Given the description of an element on the screen output the (x, y) to click on. 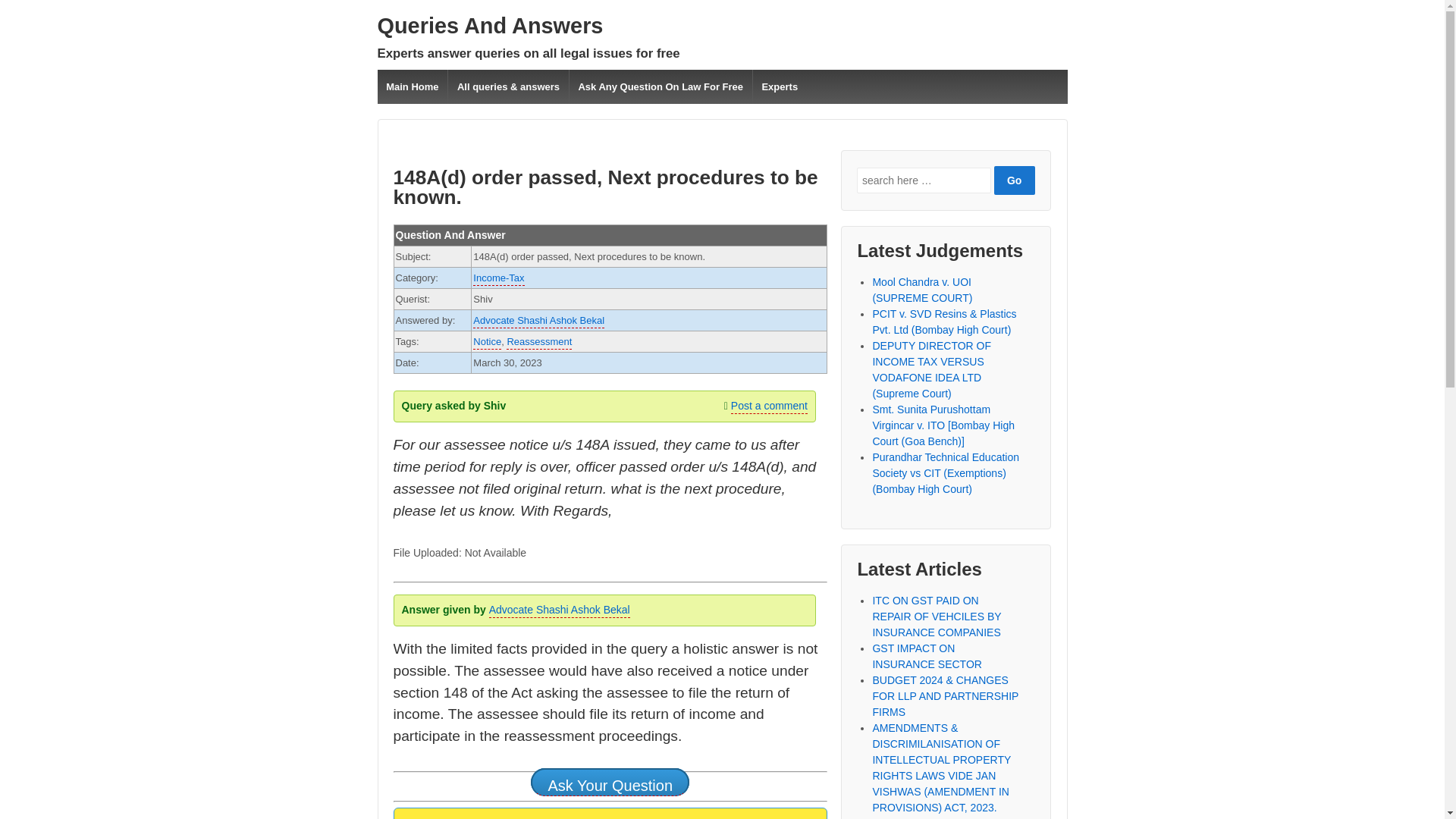
Ask Any Question On Law For Free (660, 86)
Experts (779, 86)
Main Home (412, 86)
Post a comment (769, 406)
Ask your questions, experts will answer (490, 25)
Ask Your Question (609, 782)
Income-Tax (498, 278)
Notice (486, 342)
Go (1014, 180)
